Given the description of an element on the screen output the (x, y) to click on. 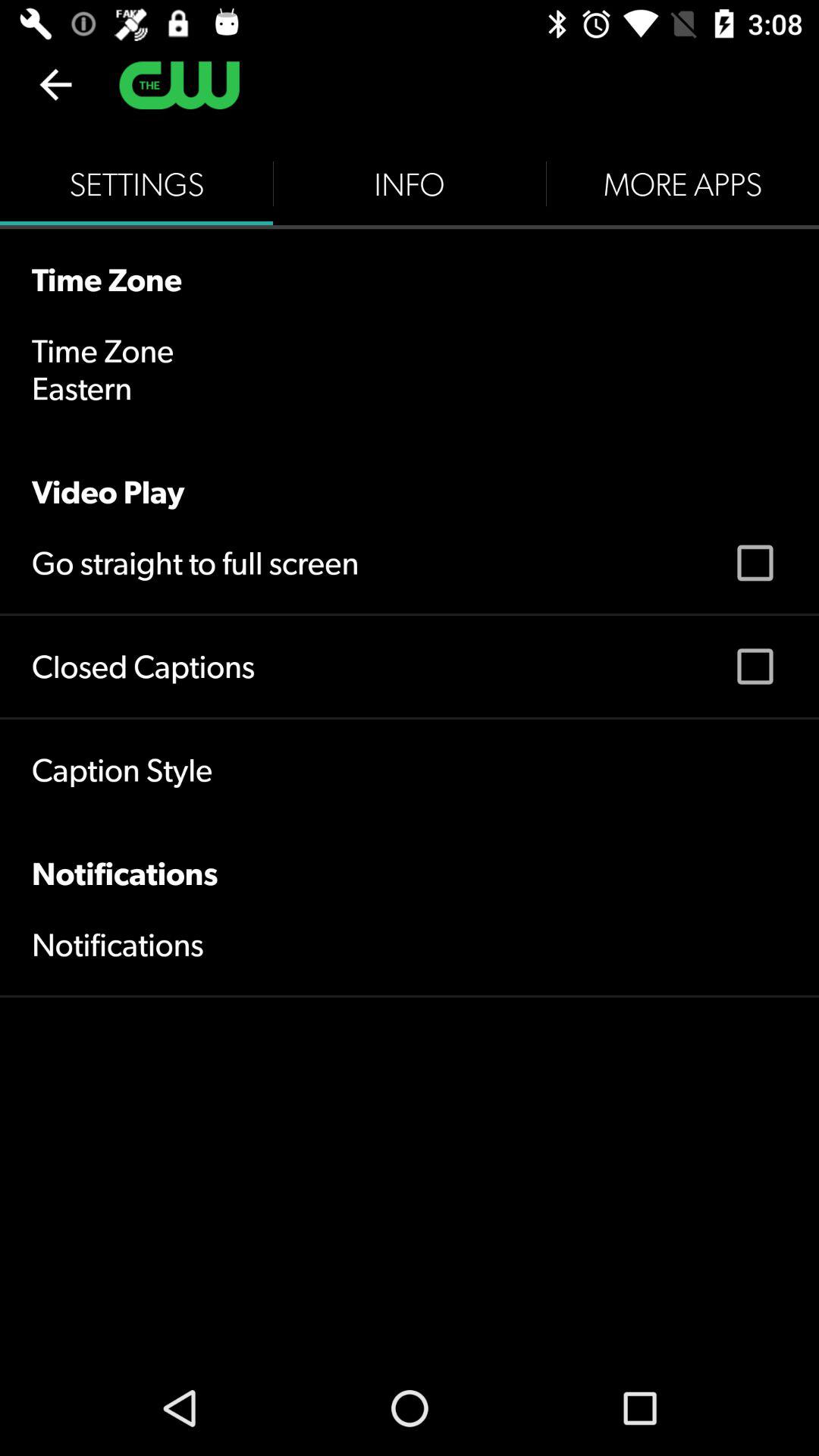
tap icon next to info item (682, 184)
